Given the description of an element on the screen output the (x, y) to click on. 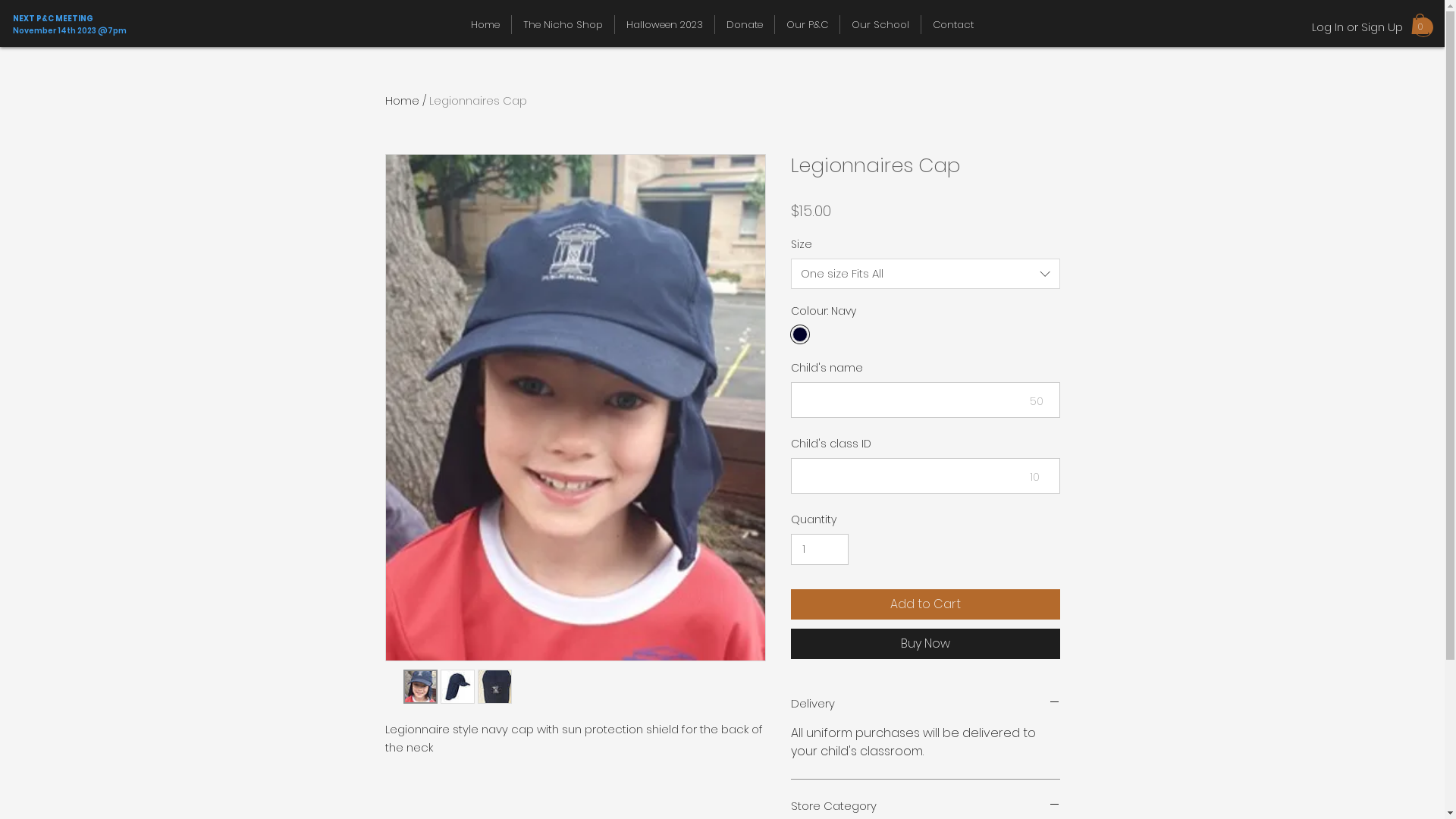
Home Element type: text (485, 24)
Add to Cart Element type: text (924, 604)
0 Element type: text (1419, 23)
Legionnaires Cap Element type: text (478, 100)
Contact Element type: text (953, 24)
Delivery Element type: text (924, 703)
Store Category Element type: text (924, 805)
Halloween 2023 Element type: text (664, 24)
Home Element type: text (402, 100)
Log In or Sign Up Element type: text (1372, 26)
Buy Now Element type: text (924, 643)
Our School Element type: text (880, 24)
The Nicho Shop Element type: text (562, 24)
One size Fits All Element type: text (924, 273)
Our P&C Element type: text (807, 24)
Donate Element type: text (744, 24)
